Given the description of an element on the screen output the (x, y) to click on. 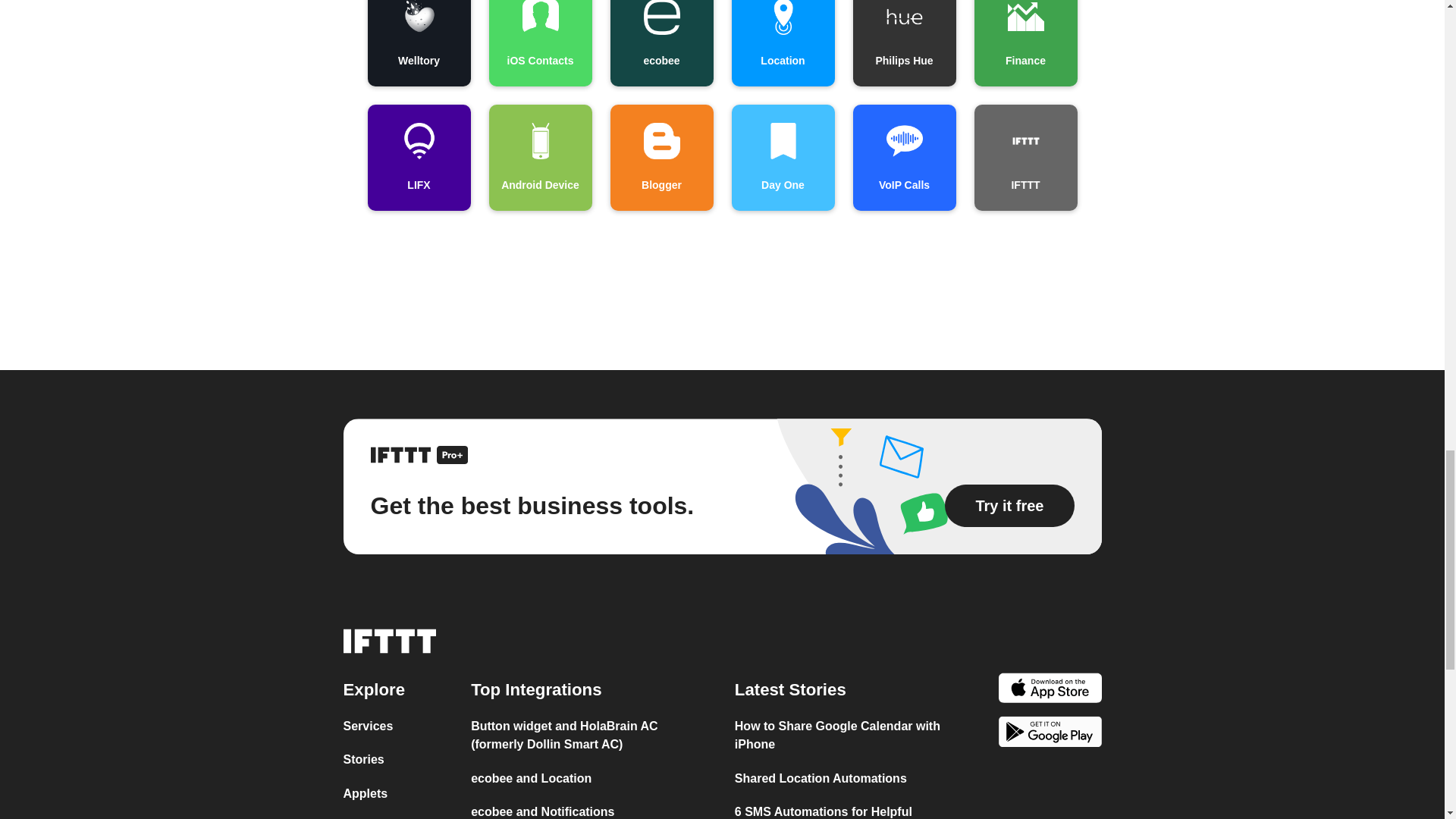
Location (782, 43)
Philips Hue (903, 43)
Finance (1025, 43)
LIFX (418, 157)
ecobee (661, 43)
iOS Contacts (539, 43)
Welltory (418, 43)
